Given the description of an element on the screen output the (x, y) to click on. 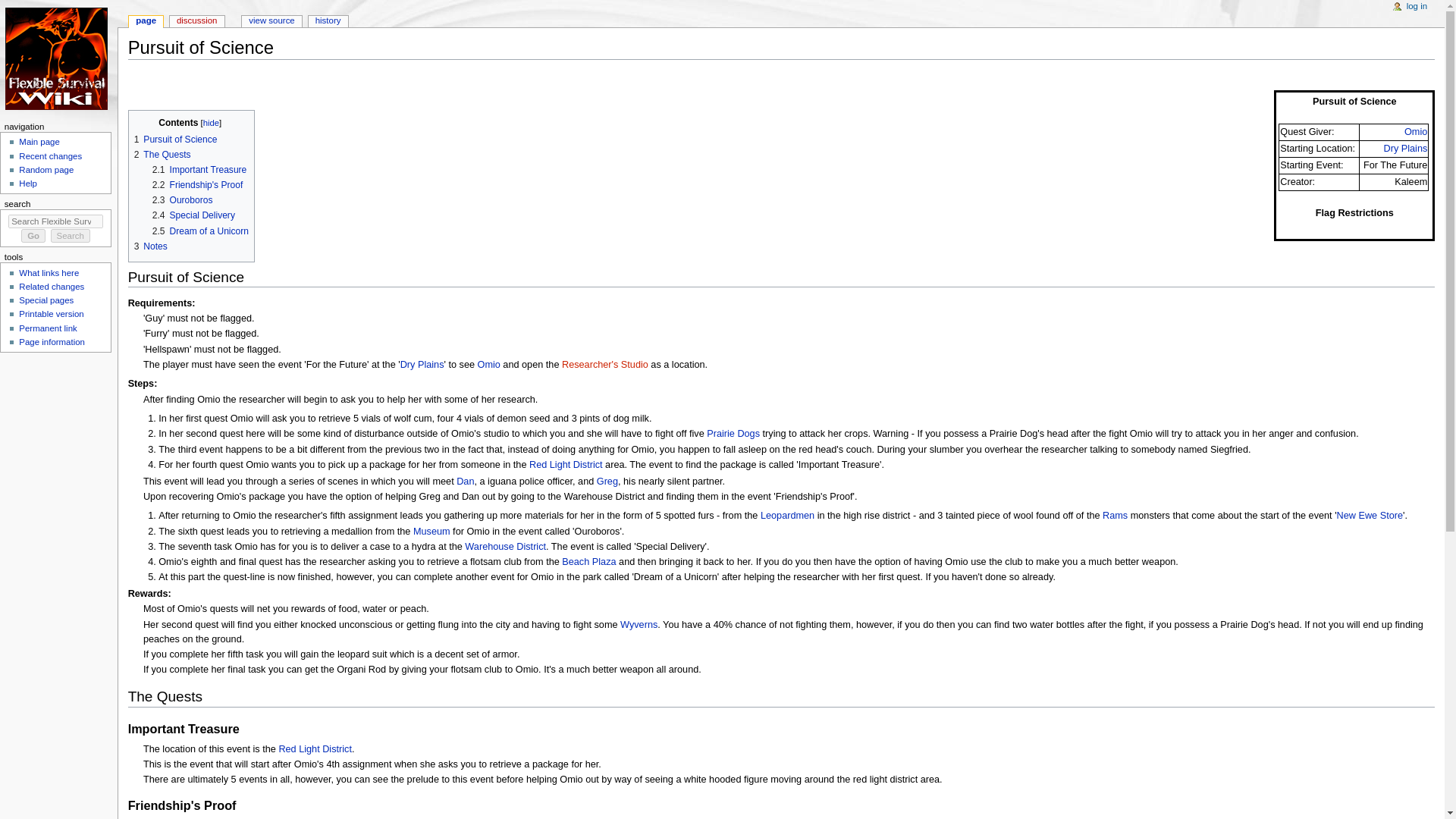
Wyvern (639, 624)
2.3 Ouroboros (182, 199)
Red Light District (315, 748)
Search (70, 235)
Dan (465, 480)
3 Notes (150, 245)
Dry Plains (422, 364)
Leopardmen (786, 515)
Beach Plaza (588, 561)
Omio (488, 364)
Omio (1415, 131)
Wyverns (639, 624)
Rams (1114, 515)
Prairie Dogs (733, 433)
2.5 Dream of a Unicorn (200, 231)
